Given the description of an element on the screen output the (x, y) to click on. 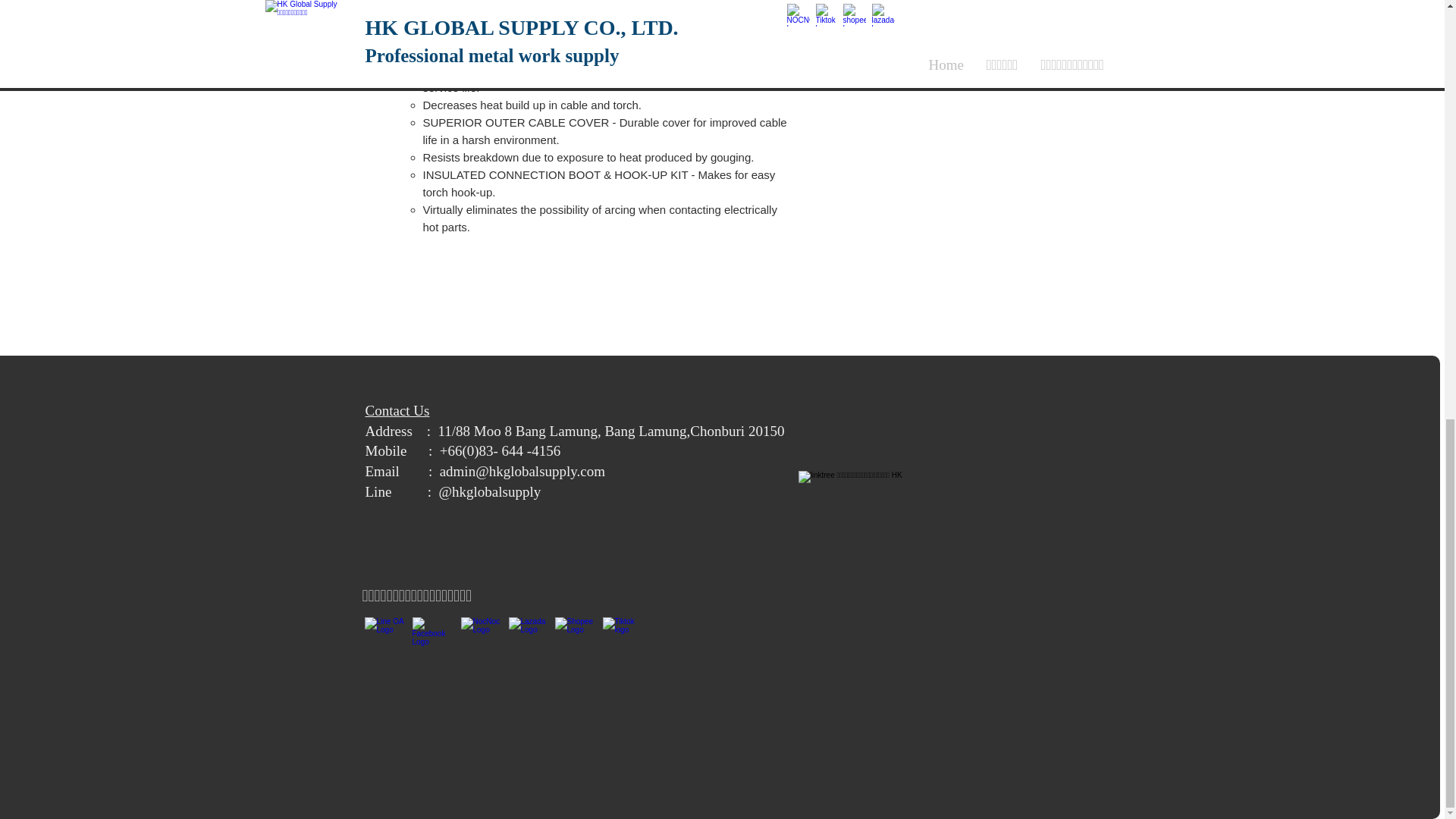
nocnoc-logo-removebg-preview.png (482, 638)
Contact Us (397, 410)
linktree-hkglobalsupply.png (856, 529)
shopee-Logo.png (575, 638)
lazada-logo2-removebg-preview.png (529, 638)
